Given the description of an element on the screen output the (x, y) to click on. 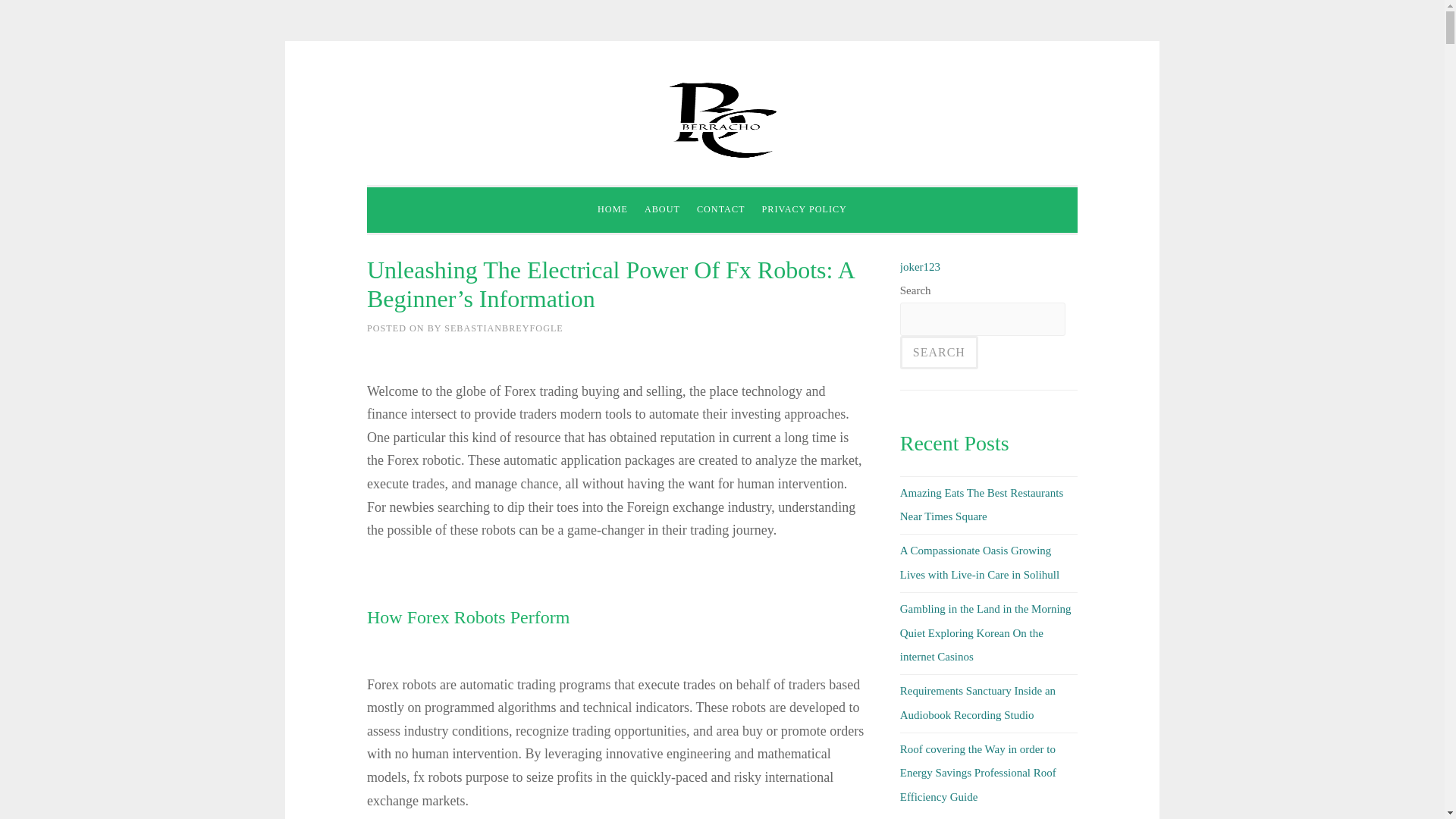
SEBASTIANBREYFOGLE (503, 327)
PRIVACY POLICY (804, 209)
Skip to content (400, 91)
Requirements Sanctuary Inside an Audiobook Recording Studio (977, 702)
joker123 (919, 266)
Amazing Eats The Best Restaurants Near Times Square (981, 504)
CONTACT (721, 209)
HOME (612, 209)
SEARCH (938, 352)
ABOUT (662, 209)
